Given the description of an element on the screen output the (x, y) to click on. 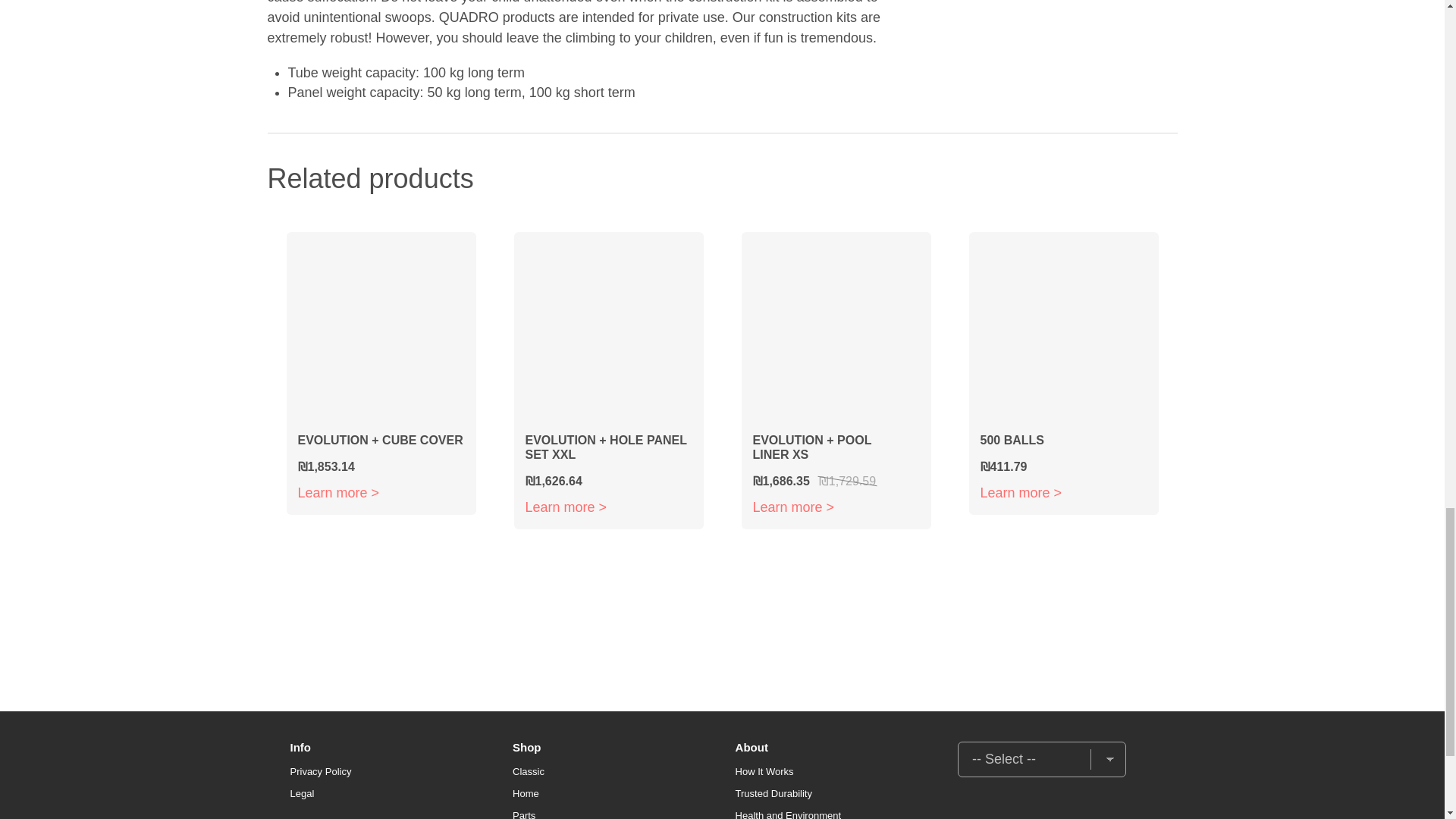
Classic (528, 771)
Legal (301, 793)
-- Select -- (1041, 759)
Parts (523, 814)
Privacy Policy (319, 771)
Home (525, 793)
